Given the description of an element on the screen output the (x, y) to click on. 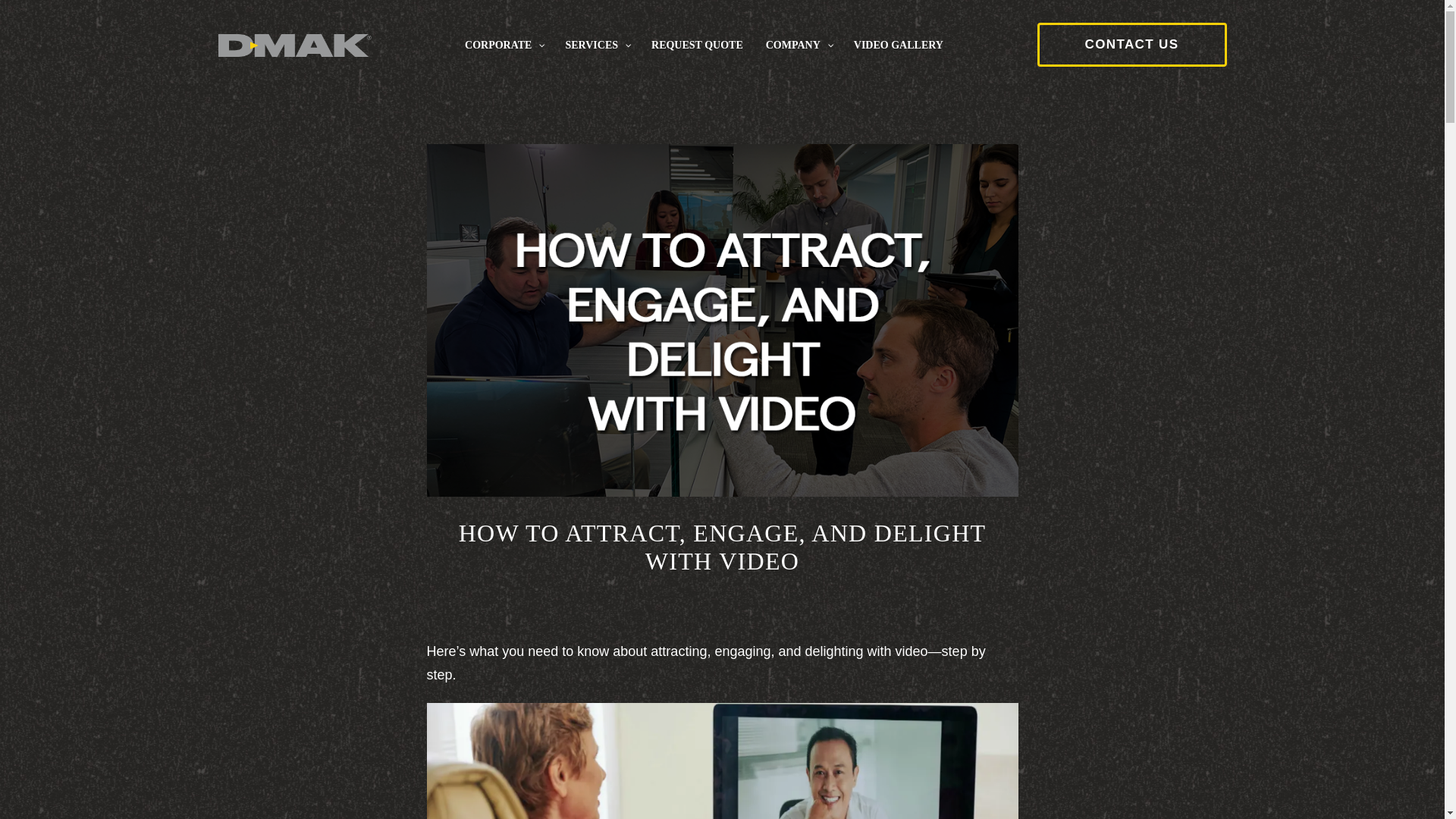
VIDEO GALLERY (899, 44)
REQUEST QUOTE (697, 44)
SERVICES (596, 44)
CORPORATE (502, 44)
CONTACT US (1131, 44)
D-MAK Productions (294, 45)
COMPANY (798, 44)
